Given the description of an element on the screen output the (x, y) to click on. 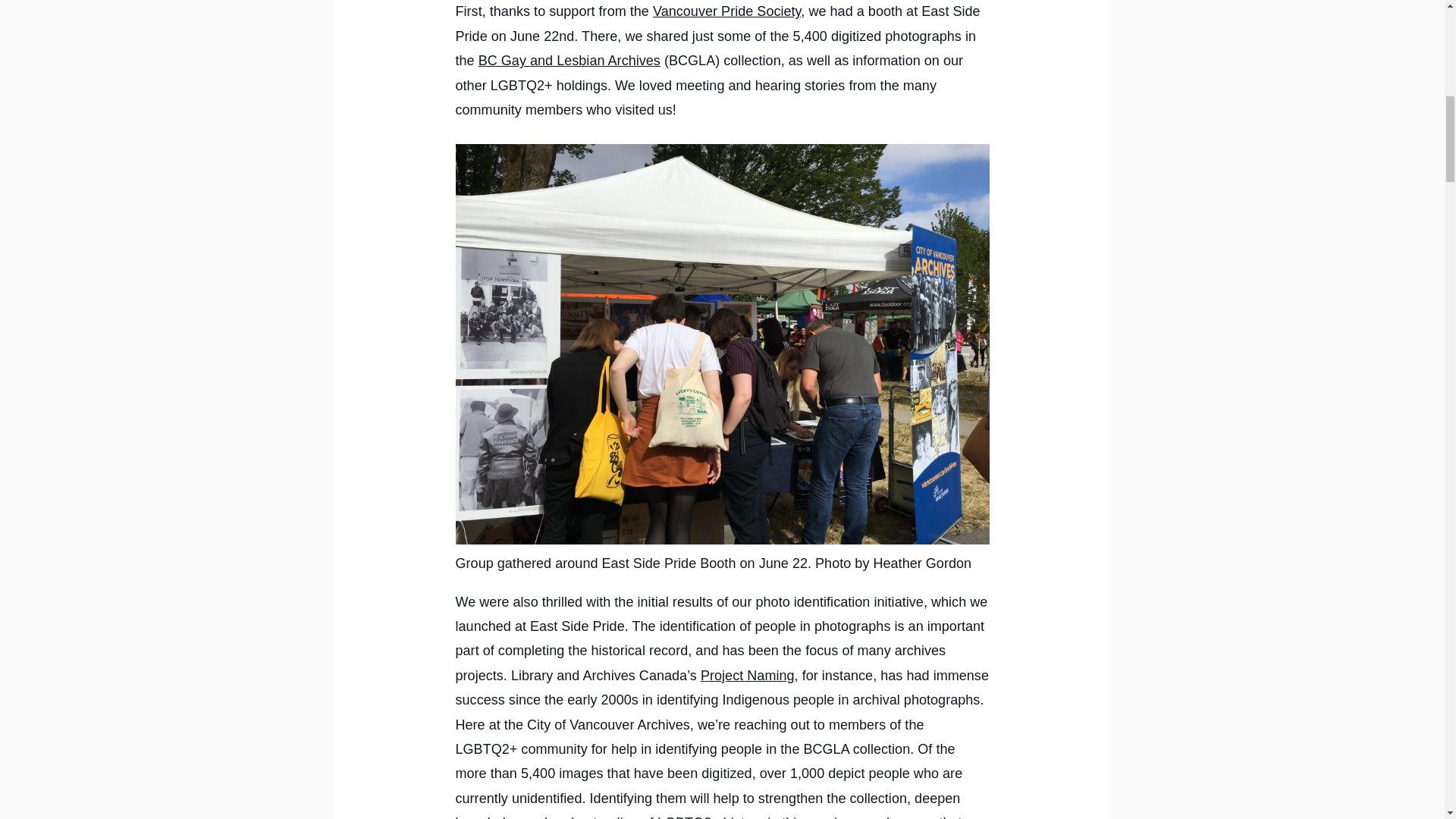
Vancouver Pride Society (726, 11)
Project Naming (747, 675)
BC Gay and Lesbian Archives (570, 60)
